Given the description of an element on the screen output the (x, y) to click on. 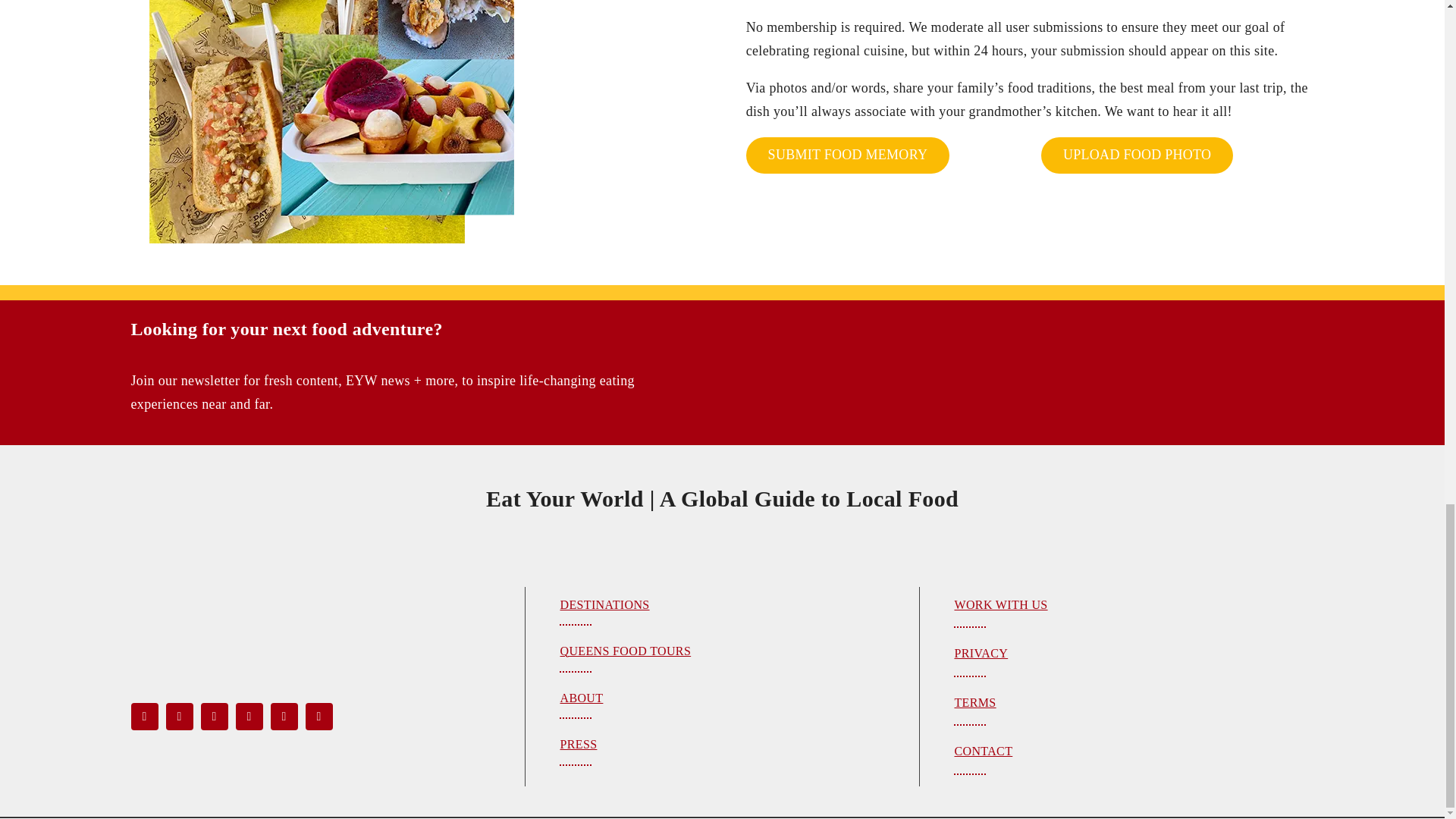
Facebook (144, 716)
Twitter (178, 716)
Eat Your World User Photo small (331, 121)
